Given the description of an element on the screen output the (x, y) to click on. 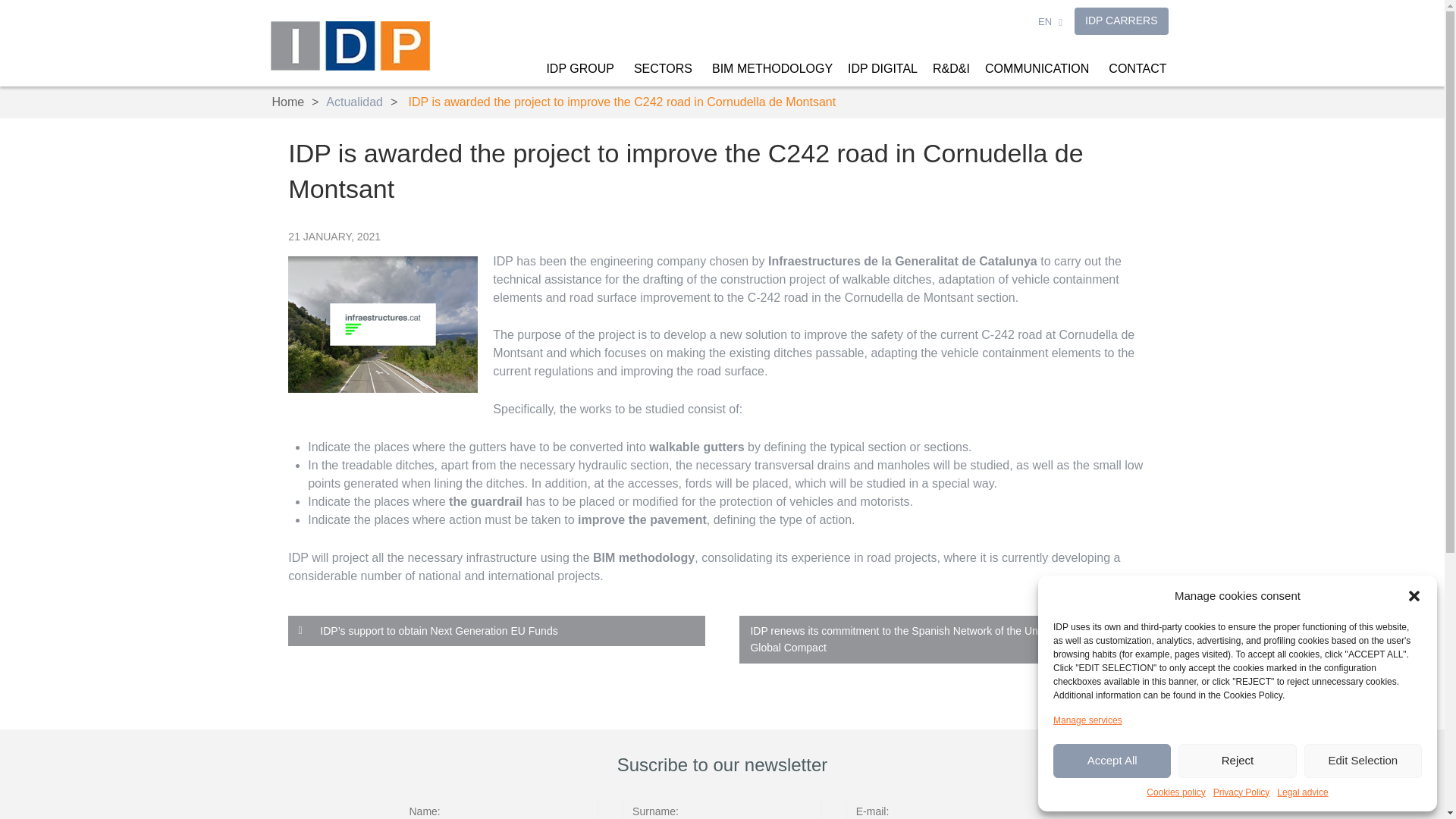
Manage services (1087, 720)
Privacy Policy (1240, 792)
Edit Selection (1363, 760)
EN (1044, 21)
IDP GROUP (579, 68)
En (1044, 21)
IDP INGENIERIA Y ARQUITECTURA IBERIA SL (349, 45)
SECTORS (663, 68)
IDP CARRERS (1120, 21)
Cookies policy (1176, 792)
Accept All (1111, 760)
Reject (1236, 760)
Legal advice (1301, 792)
